Given the description of an element on the screen output the (x, y) to click on. 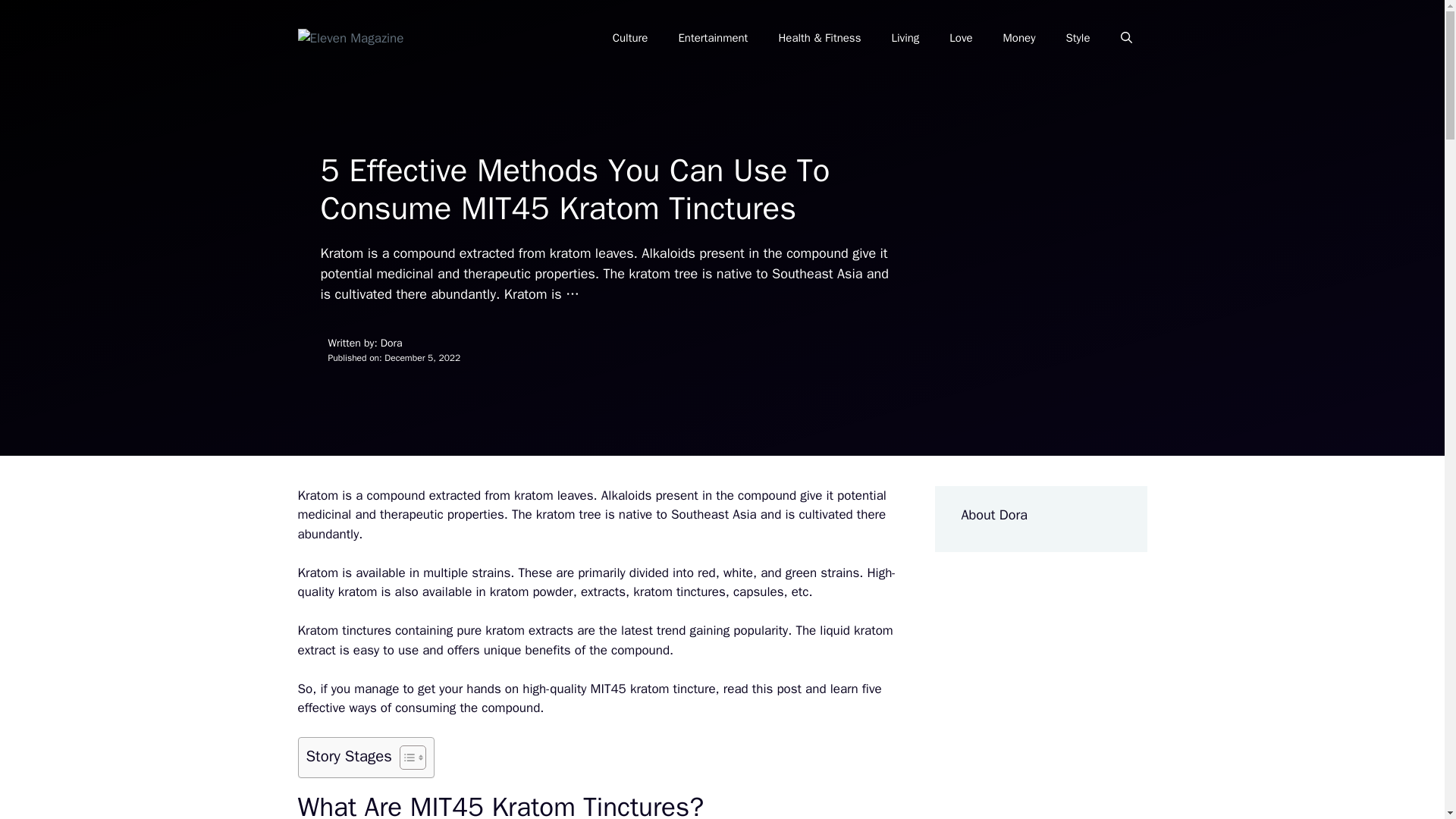
Living (905, 37)
kratom tincture (673, 688)
Culture (629, 37)
Money (1019, 37)
Love (960, 37)
Style (1077, 37)
Entertainment (712, 37)
